Given the description of an element on the screen output the (x, y) to click on. 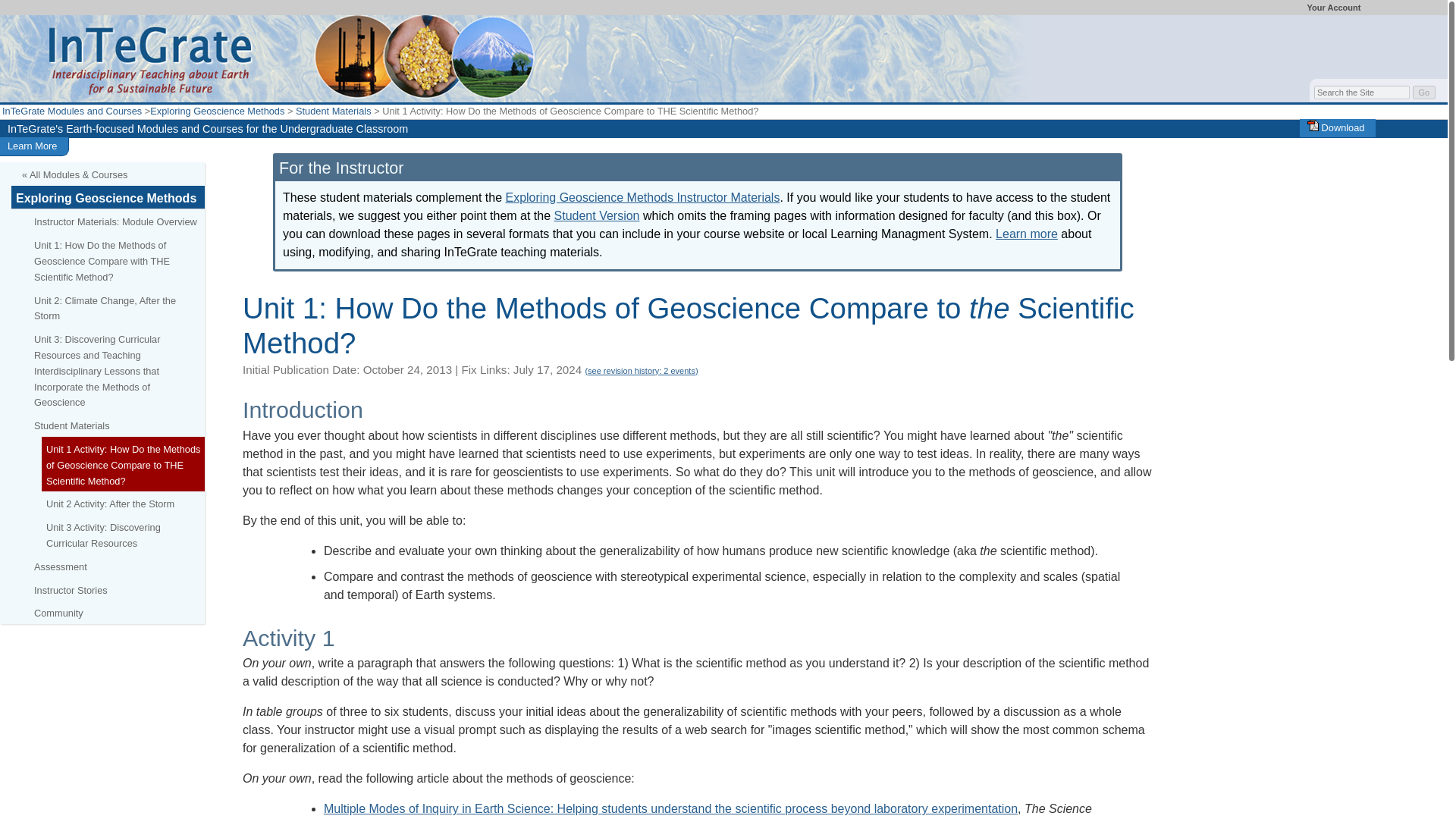
Instructor Materials: Module Overview (117, 220)
Unit 2: Climate Change, After the Storm (117, 307)
Learn More (31, 145)
Exploring Geoscience Methods (108, 197)
Student Version (597, 215)
InTeGrate Modules and Courses (71, 111)
Exploring Geoscience Methods (216, 111)
Go (1423, 92)
Student Materials (333, 111)
Exploring Geoscience Methods Instructor Materials (641, 196)
Learn more (1026, 233)
Download (1335, 127)
